Given the description of an element on the screen output the (x, y) to click on. 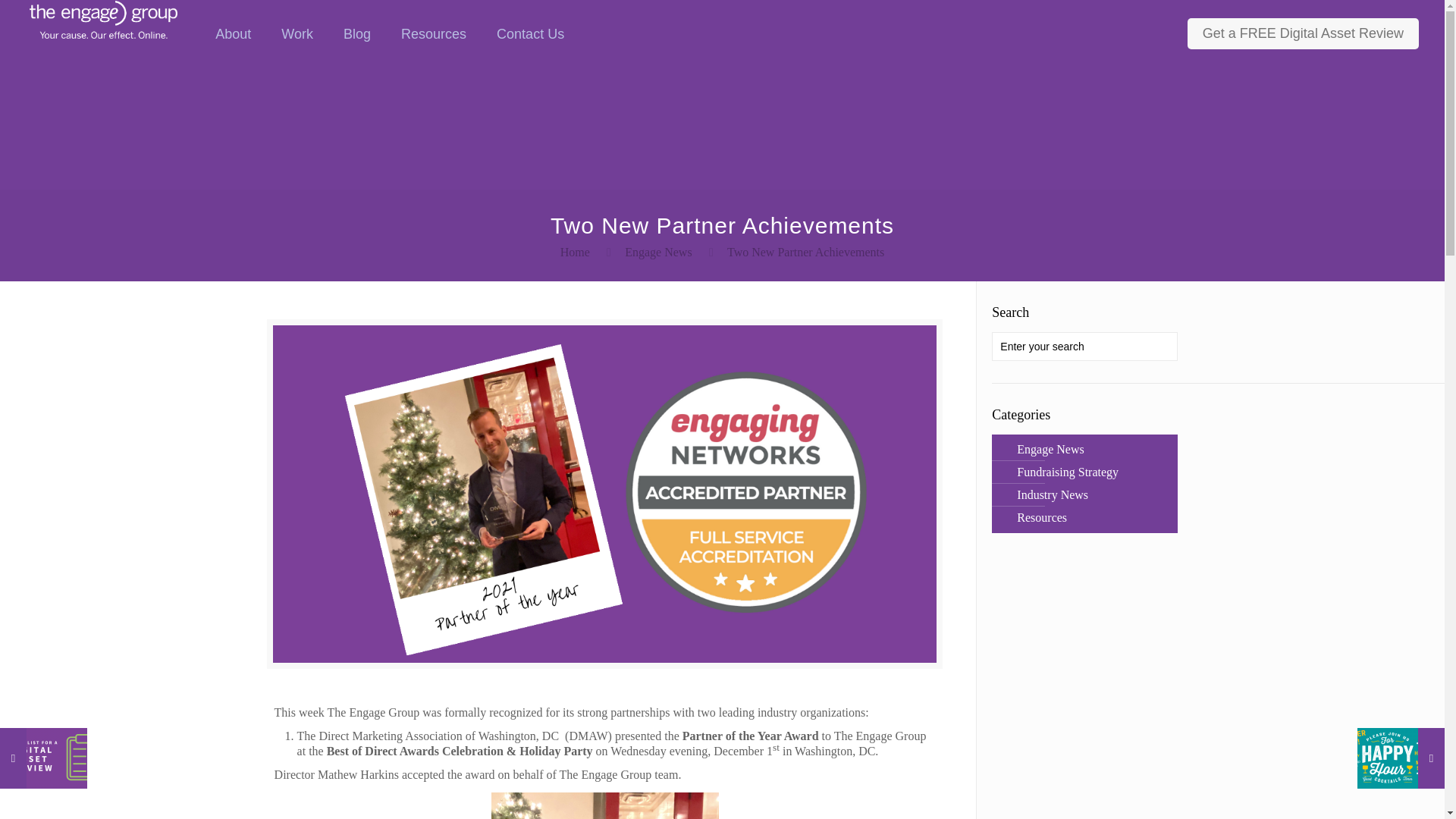
Contact Us (530, 33)
Work (297, 33)
Engage News (1048, 449)
Resources (433, 33)
Home (574, 251)
The Engage Group (103, 18)
Engage News (657, 251)
Get a FREE Digital Asset Review (1303, 33)
About (233, 33)
